Given the description of an element on the screen output the (x, y) to click on. 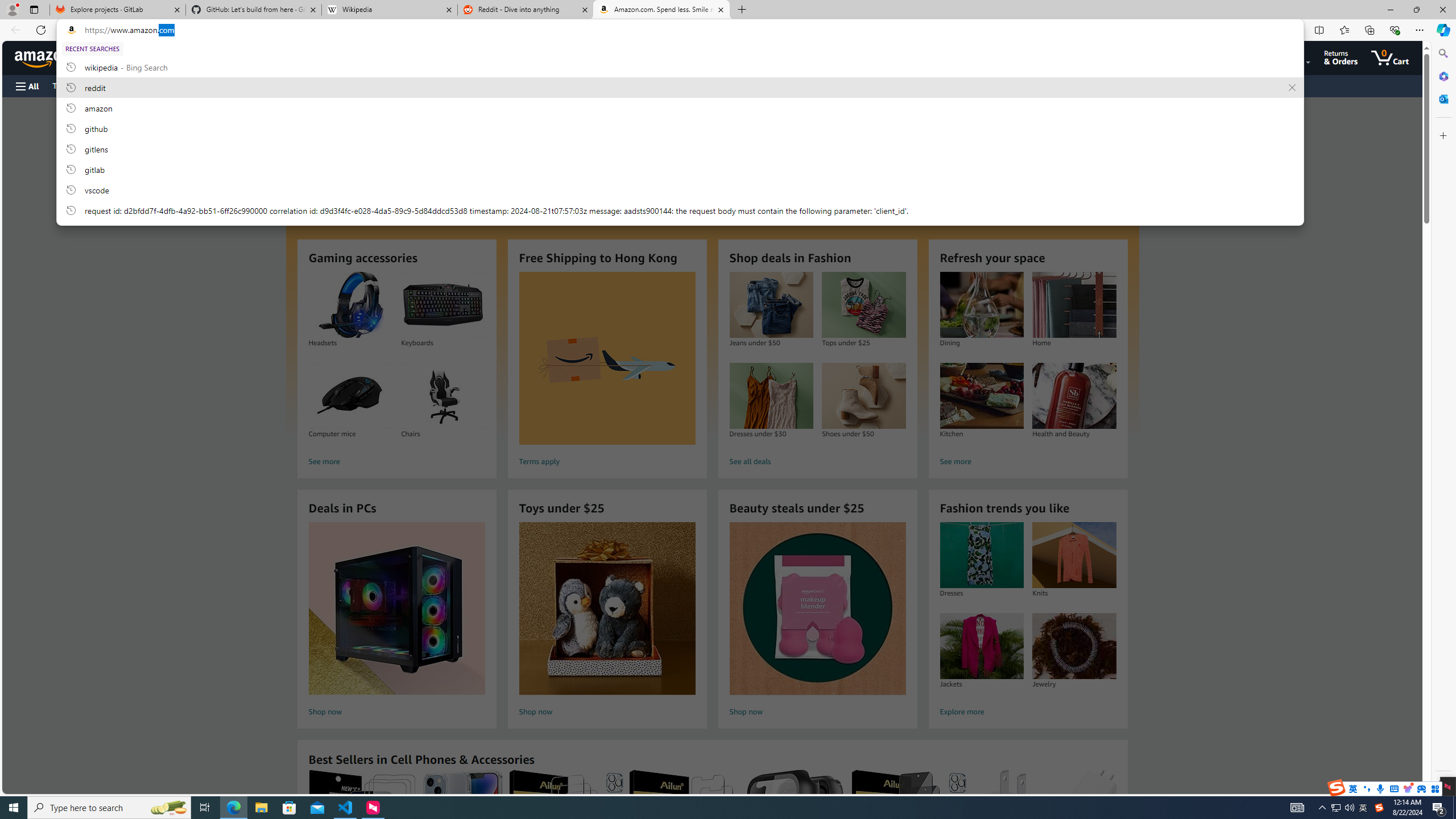
Split screen (1318, 29)
Jackets (981, 645)
Open Menu (26, 86)
Search in (210, 58)
Go (1169, 57)
Registry (205, 85)
Dining (981, 304)
Microsoft 365 (1442, 76)
Class: a-carousel-card (711, 267)
See more (1027, 461)
Deals in PCs (395, 608)
Search Amazon (670, 57)
Beauty steals under $25 Shop now (817, 620)
